Given the description of an element on the screen output the (x, y) to click on. 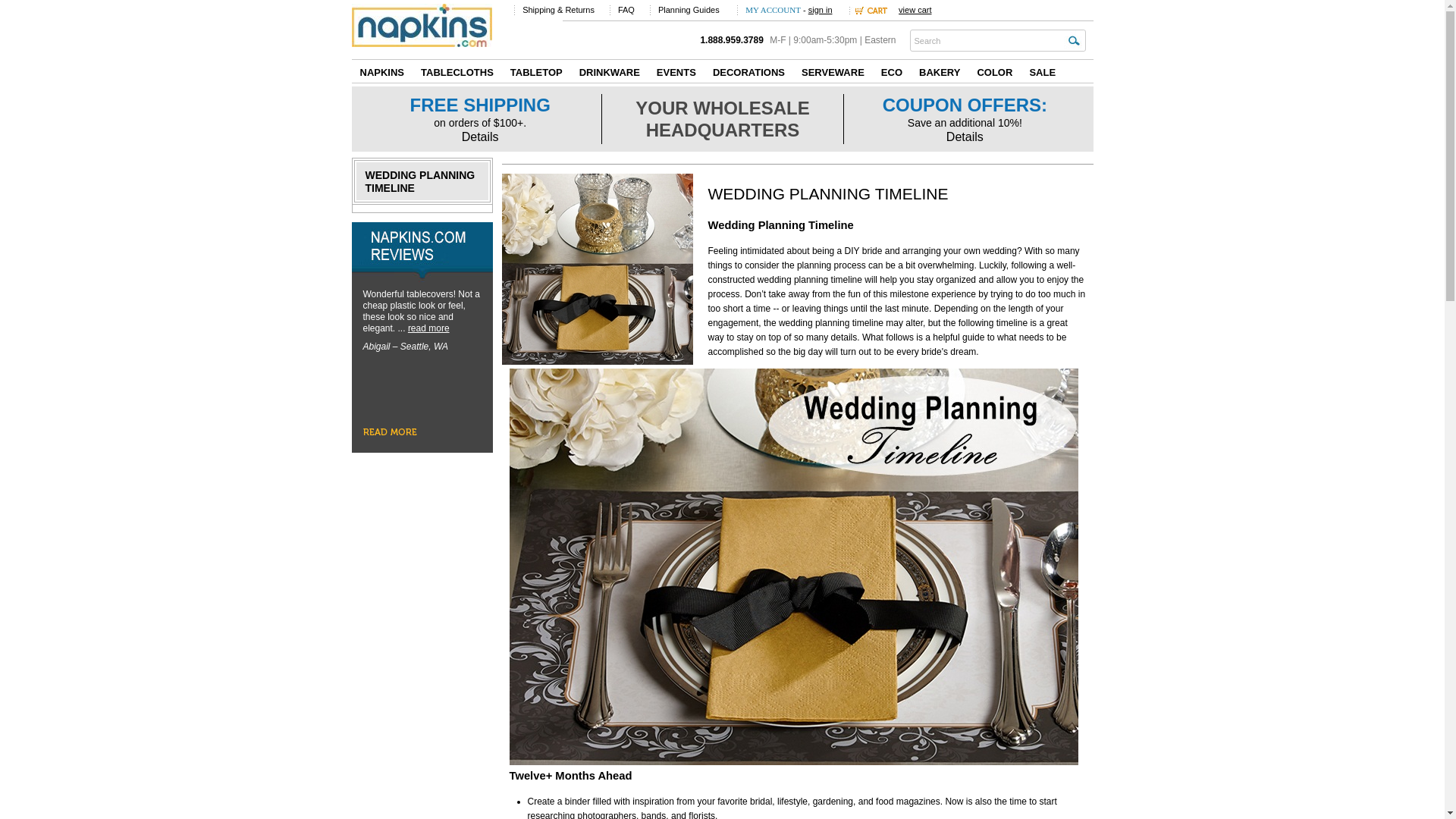
Planning Guides (688, 9)
MY ACCOUNT (772, 9)
Details (480, 136)
view cart (914, 9)
sign in (820, 9)
Search (986, 39)
NAPKINS (382, 71)
Details (964, 136)
Go (1072, 40)
FAQ (625, 9)
